Given the description of an element on the screen output the (x, y) to click on. 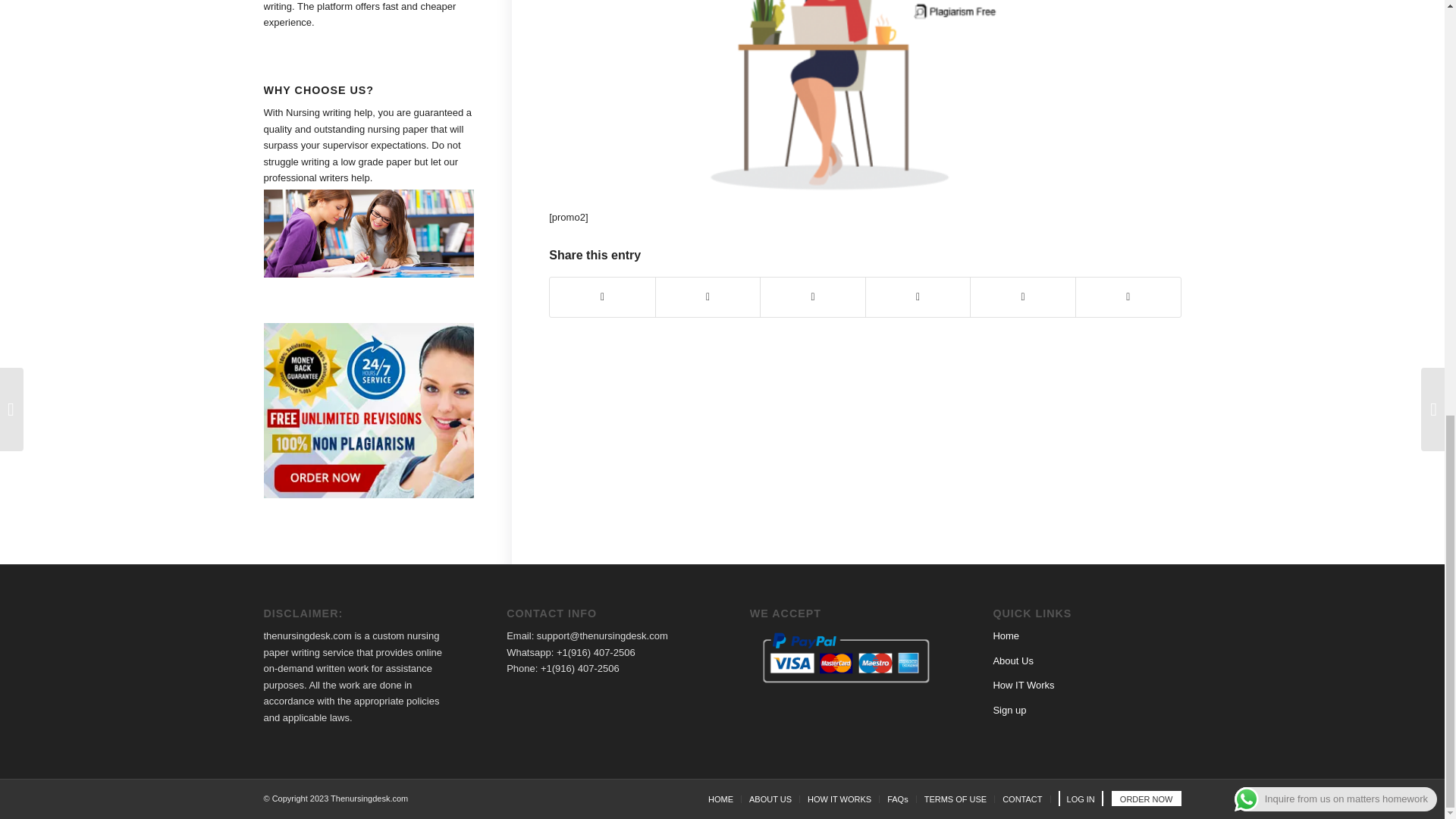
ORDER NOW (1146, 799)
HOME (720, 798)
Sign up (1009, 709)
How IT Works (1023, 685)
HOW IT WORKS (839, 798)
ABOUT US (770, 798)
About Us (1012, 660)
LOG IN (1080, 799)
FAQs (897, 798)
TERMS OF USE (955, 798)
Home (1005, 635)
CONTACT (1022, 798)
